Given the description of an element on the screen output the (x, y) to click on. 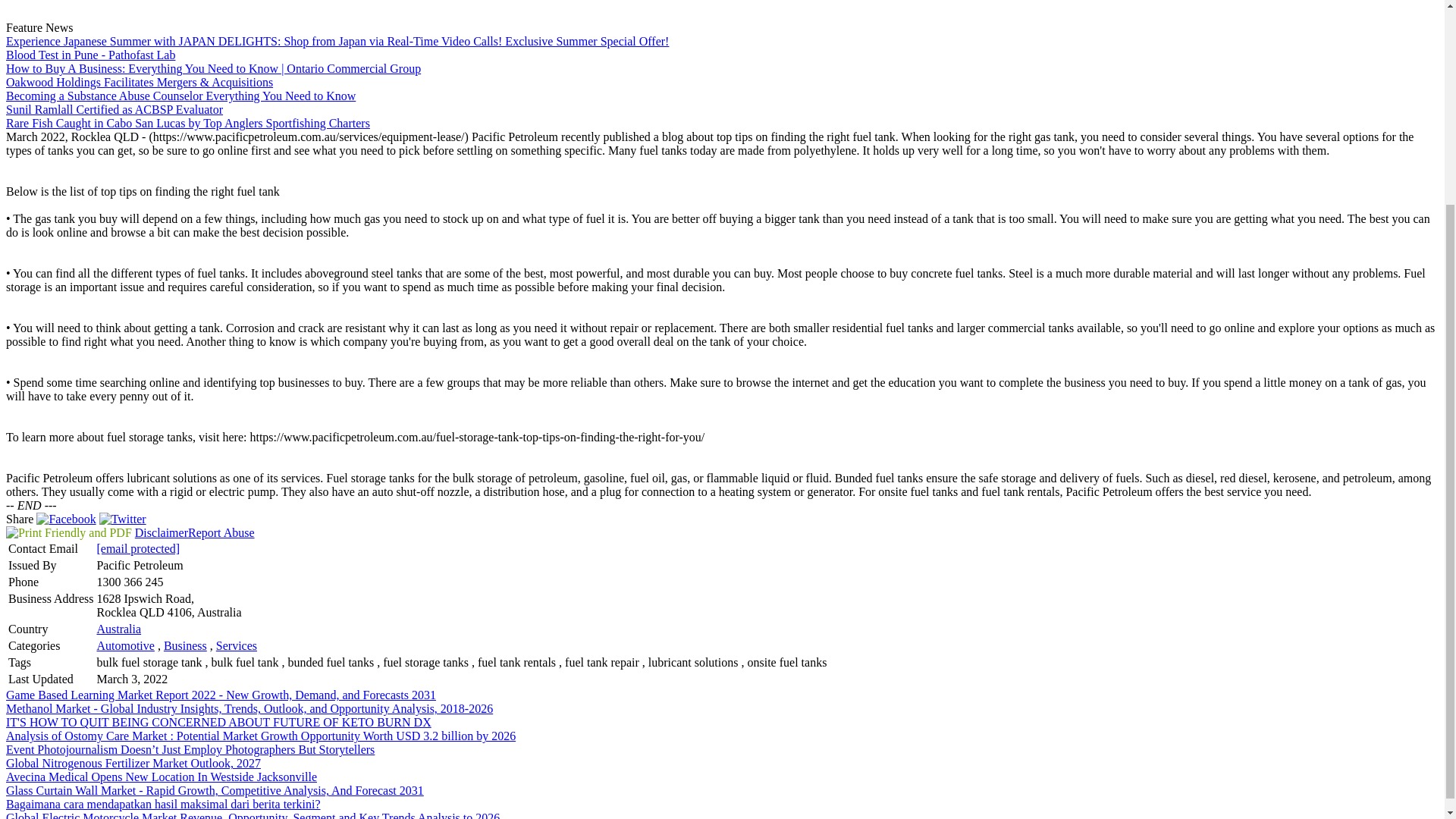
Australia (118, 628)
Printer Friendly and PDF (68, 532)
Services (236, 645)
Report Abuse (220, 532)
Disclaimer (161, 532)
Global Nitrogenous Fertilizer Market Outlook, 2027 (132, 762)
Automotive (125, 645)
Business (184, 645)
